Given the description of an element on the screen output the (x, y) to click on. 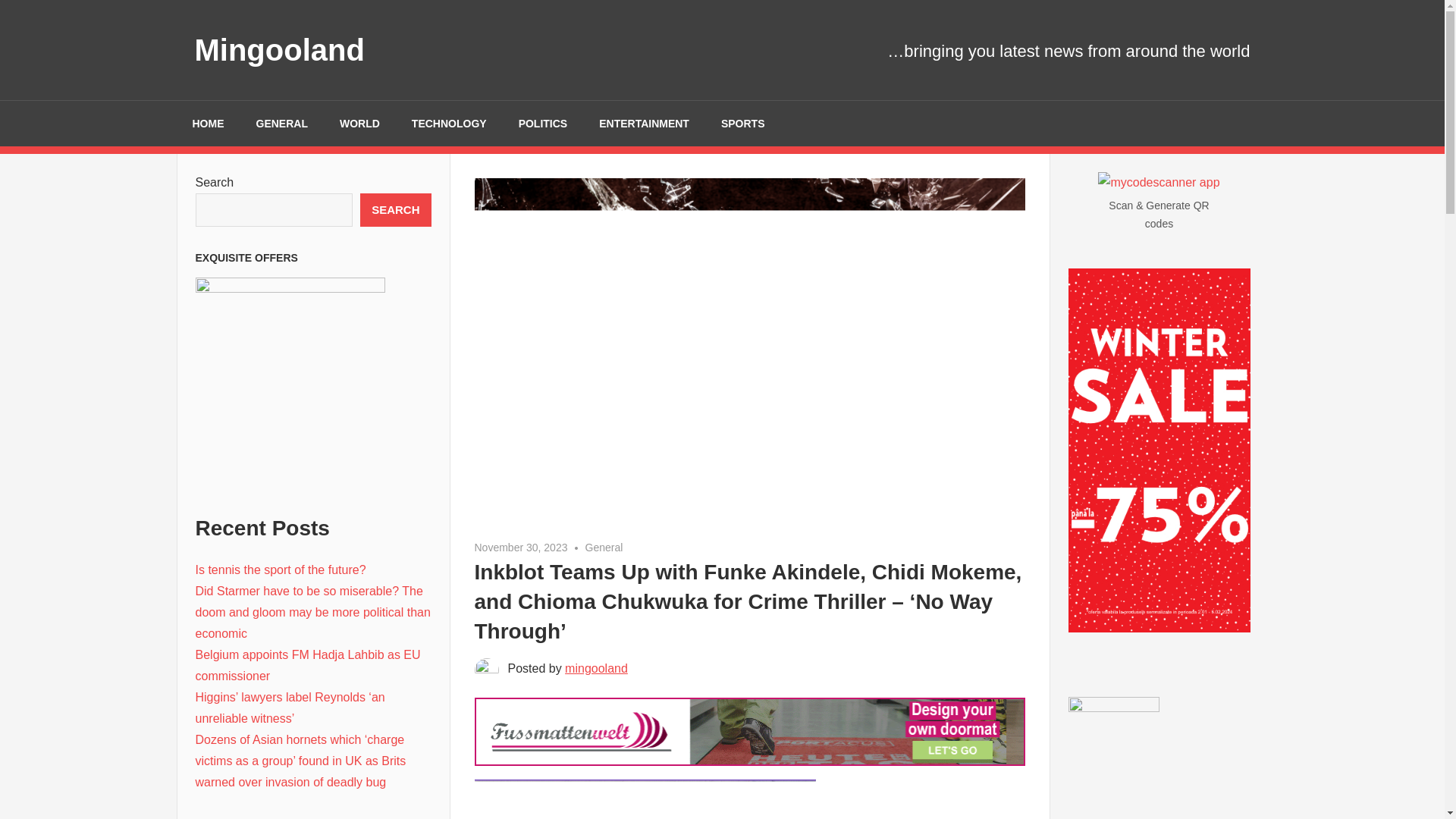
View all posts by mingooland (595, 667)
ENTERTAINMENT (643, 123)
November 30, 2023 (520, 547)
Mingooland (278, 49)
WORLD (359, 123)
HOME (208, 123)
Belgium appoints FM Hadja Lahbib as EU commissioner (307, 665)
mingooland (595, 667)
GENERAL (281, 123)
TECHNOLOGY (449, 123)
